Given the description of an element on the screen output the (x, y) to click on. 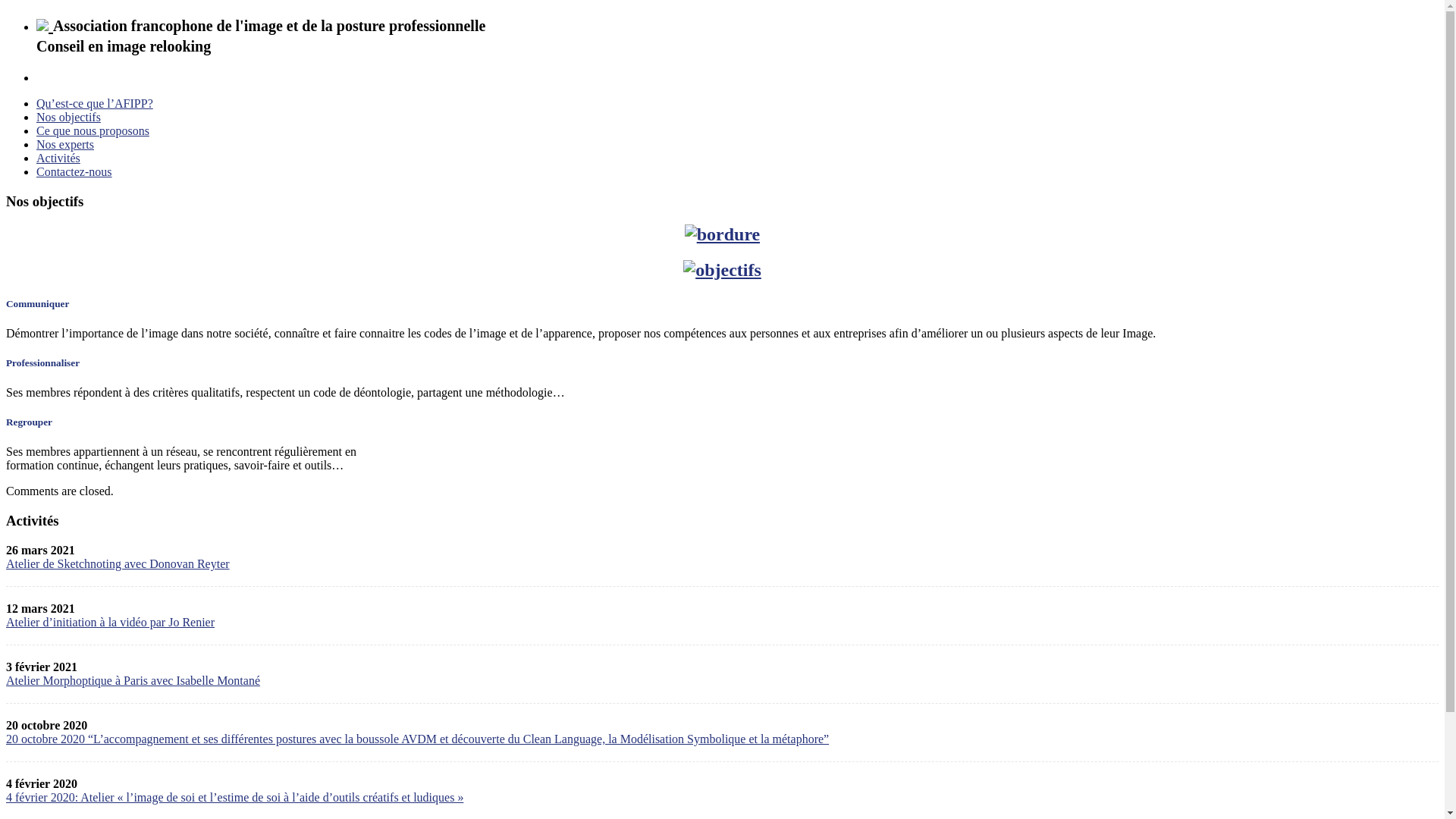
Nos objectifs Element type: text (68, 116)
Nos experts Element type: text (65, 144)
Contactez-nous Element type: text (74, 171)
Ce que nous proposons Element type: text (92, 130)
Atelier de Sketchnoting avec Donovan Reyter Element type: text (117, 563)
